Given the description of an element on the screen output the (x, y) to click on. 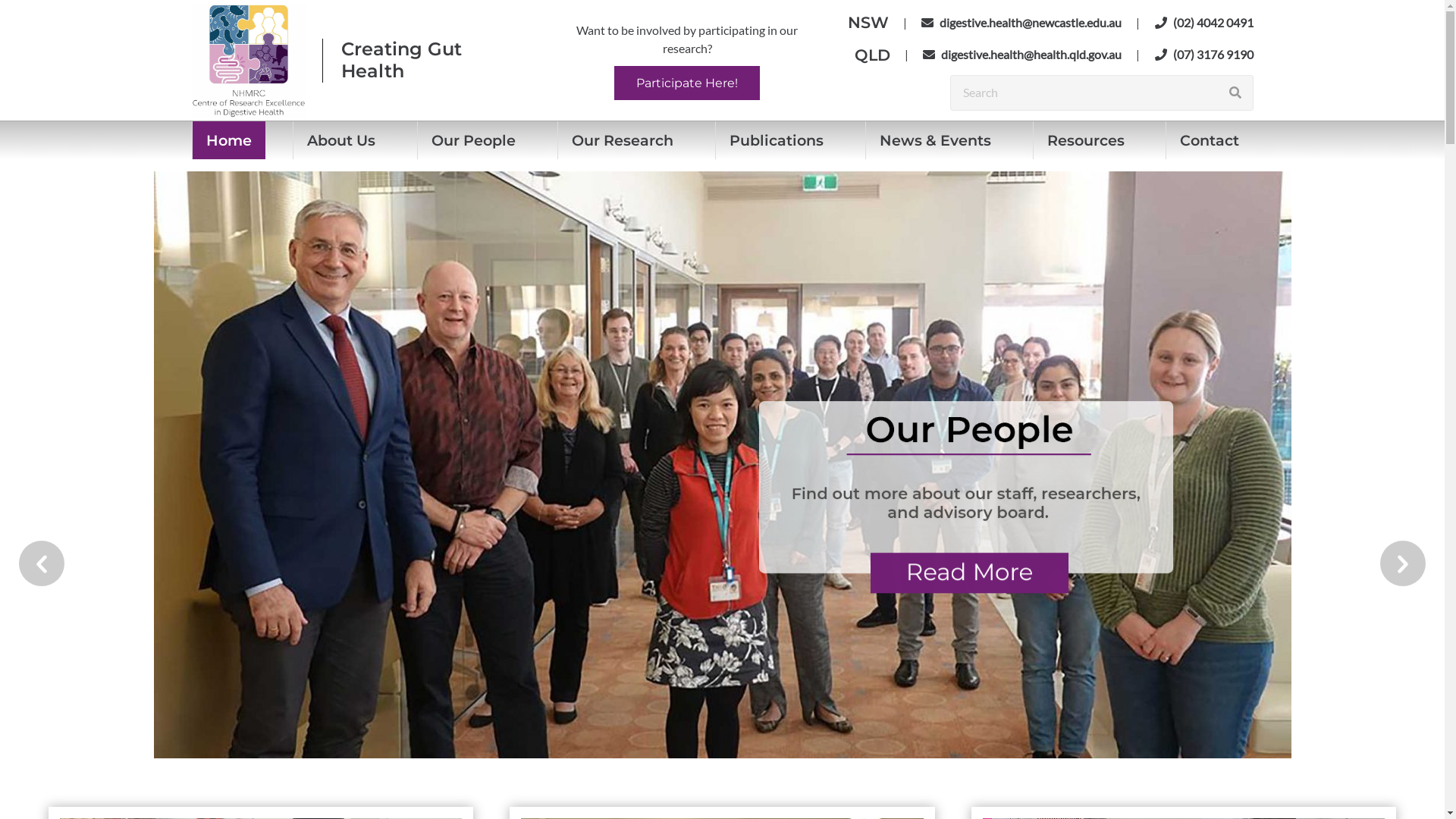
About Us Element type: text (341, 140)
Our Team Element type: hover (964, 520)
Contact Element type: text (1209, 140)
Our Research Element type: text (622, 140)
Our People Element type: text (473, 140)
digestive.health@health.qld.gov.au Element type: text (1021, 54)
(07) 3176 9190 Element type: text (1203, 54)
Home Element type: text (228, 140)
digestive.health@newcastle.edu.au Element type: text (1021, 22)
Participate Here! Element type: text (686, 82)
Publications Element type: text (776, 140)
Resources Element type: text (1085, 140)
News & Events Element type: text (935, 140)
(02) 4042 0491 Element type: text (1203, 22)
